Given the description of an element on the screen output the (x, y) to click on. 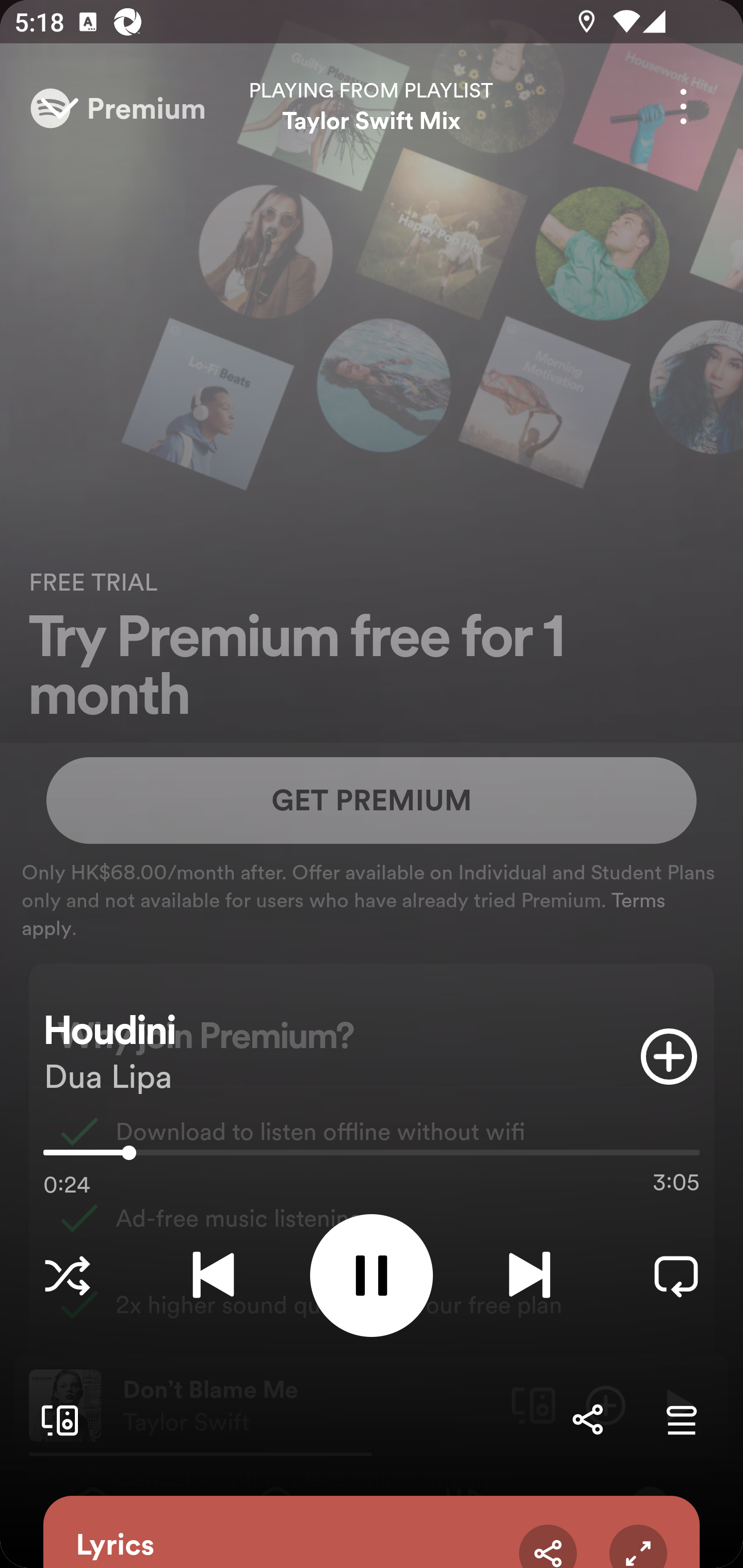
Close (59, 106)
More options for song Houdini (683, 106)
PLAYING FROM PLAYLIST Taylor Swift Mix (371, 106)
Add item (669, 1056)
0:24 3:05 24126.0 Use volume keys to adjust (371, 1157)
Pause (371, 1275)
Previous (212, 1275)
Next (529, 1275)
Choose a Listening Mode (66, 1275)
Repeat (676, 1275)
Share (587, 1419)
Go to Queue (681, 1419)
Connect to a device. Opens the devices menu (55, 1419)
Lyrics Share Expand (371, 1531)
Share (547, 1546)
Expand (638, 1546)
